Given the description of an element on the screen output the (x, y) to click on. 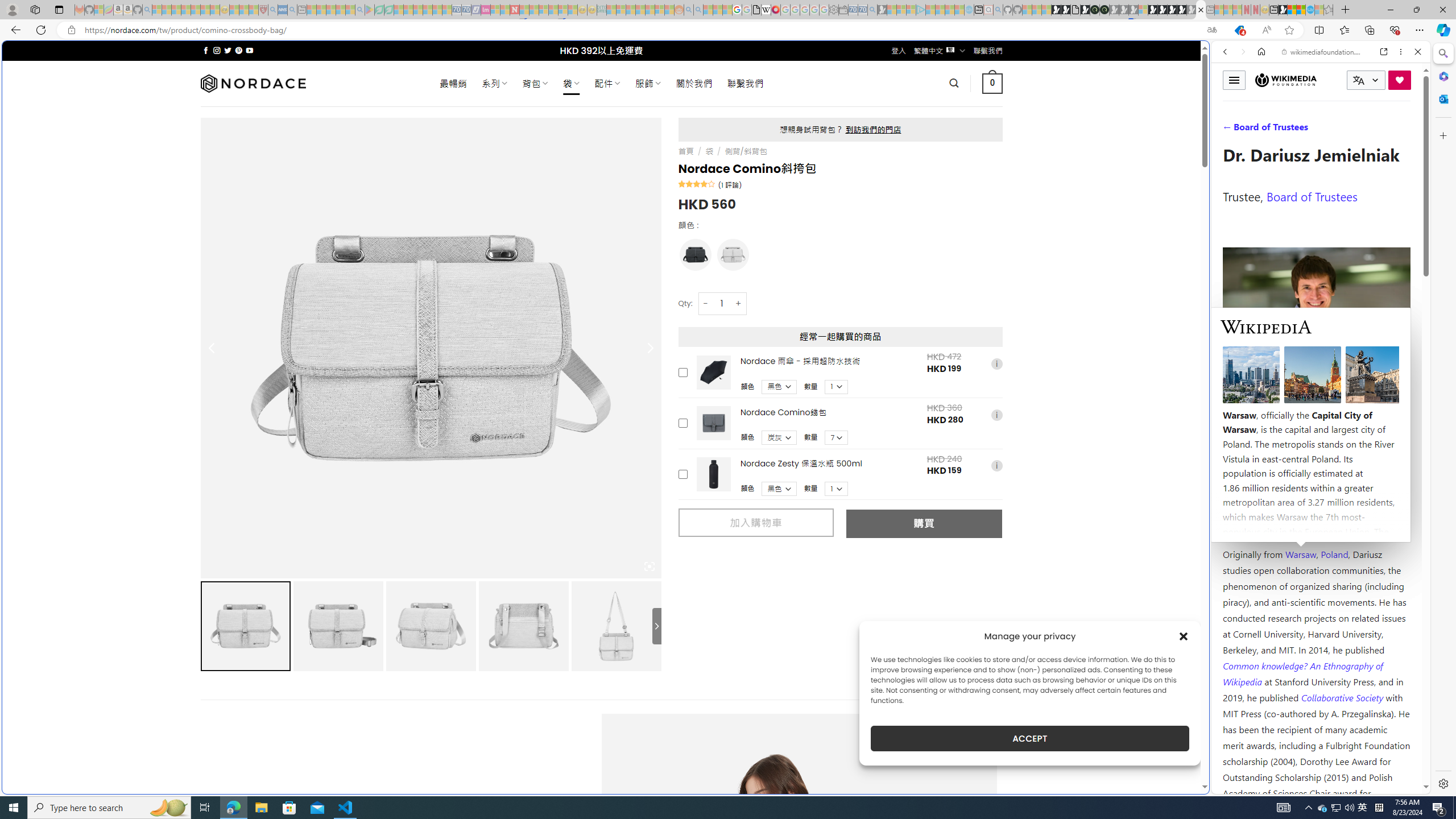
- (705, 303)
Services - Maintenance | Sky Blue Bikes - Sky Blue Bikes (1309, 9)
Follow on Facebook (205, 50)
Frequently visited (965, 151)
